Given the description of an element on the screen output the (x, y) to click on. 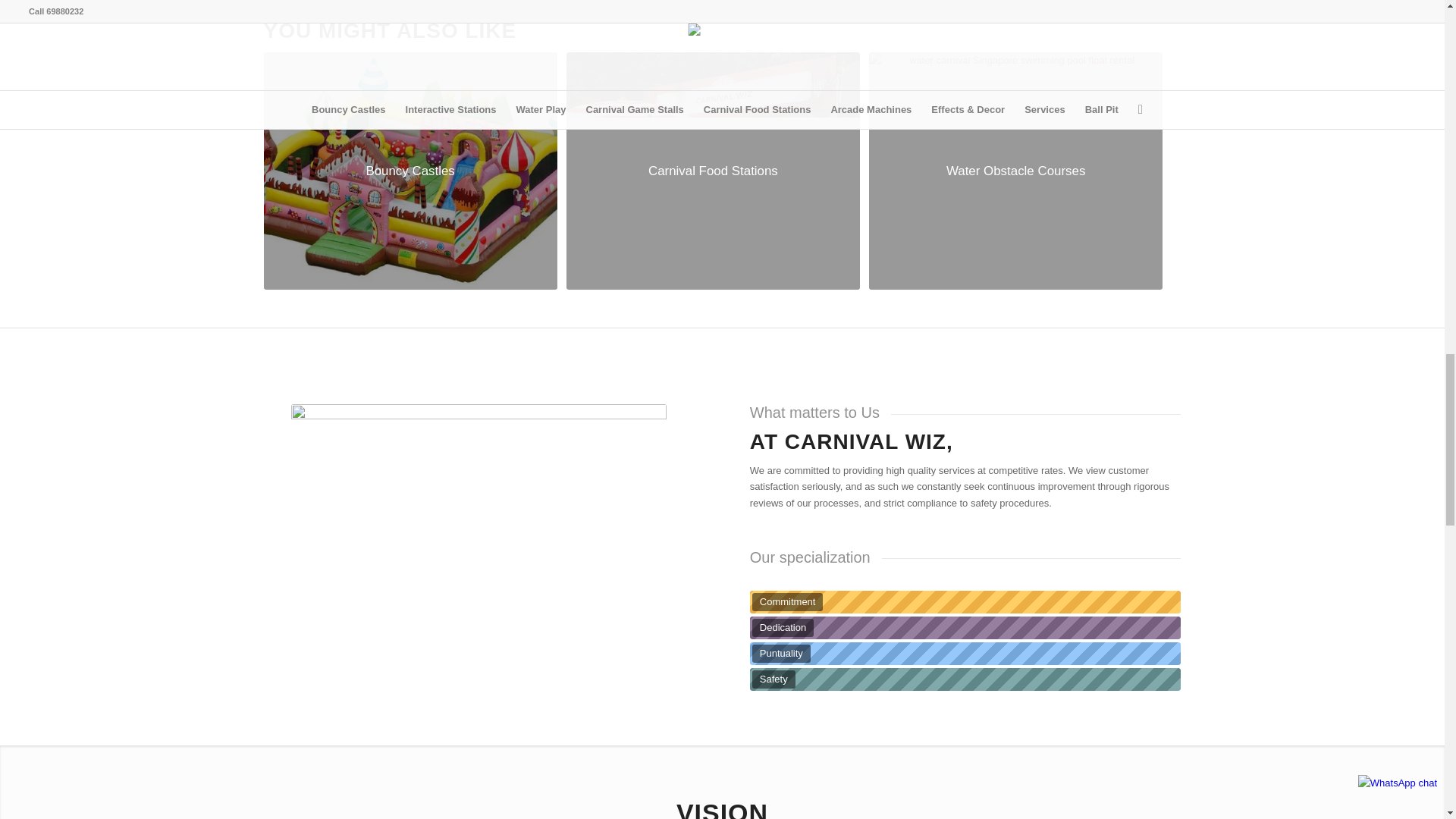
Candy House Inflatable Bouncy Castle Singapore (410, 170)
